Given the description of an element on the screen output the (x, y) to click on. 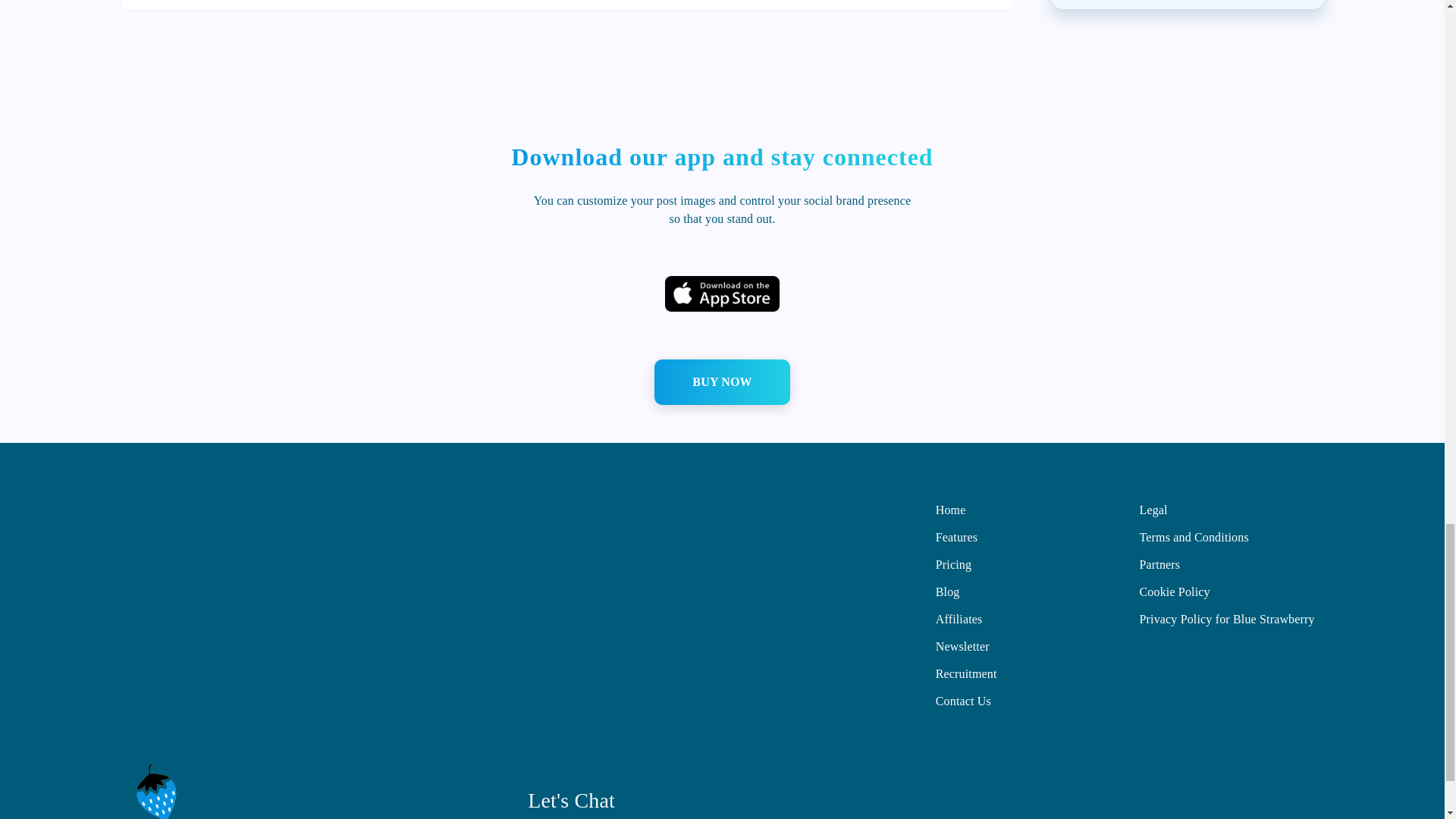
Download App from Apple App Store (721, 294)
